Given the description of an element on the screen output the (x, y) to click on. 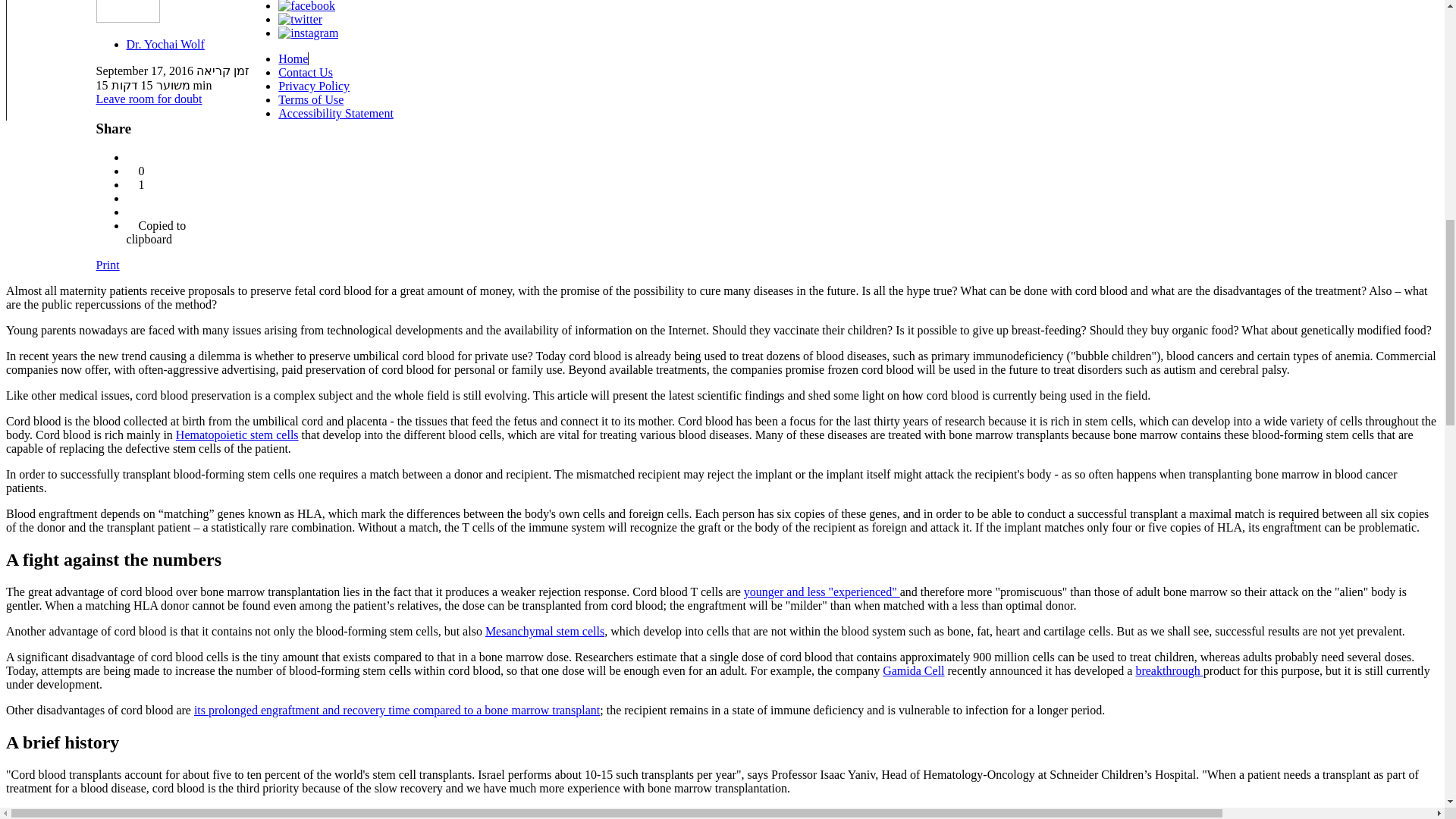
facebook (306, 6)
instagram (307, 33)
twitter (299, 19)
